Given the description of an element on the screen output the (x, y) to click on. 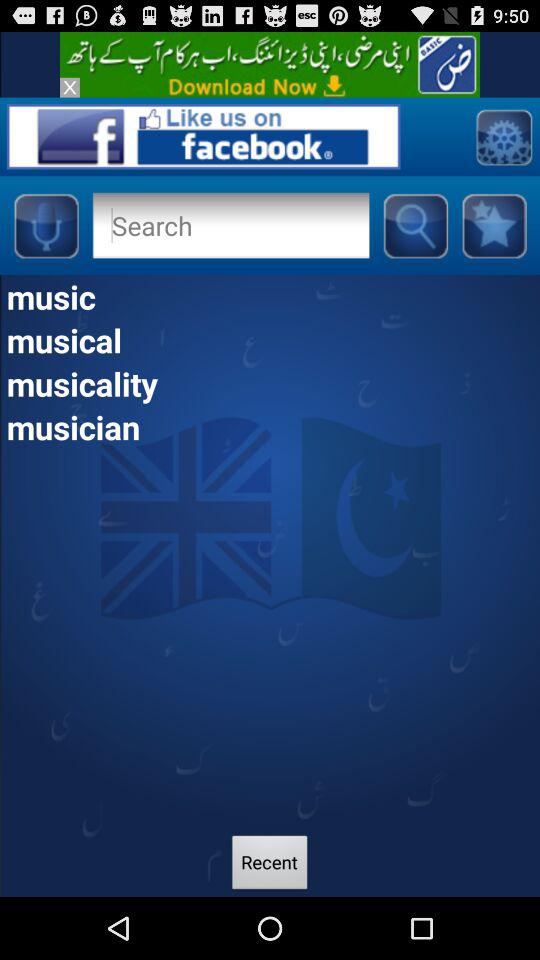
open search bar (415, 225)
